Given the description of an element on the screen output the (x, y) to click on. 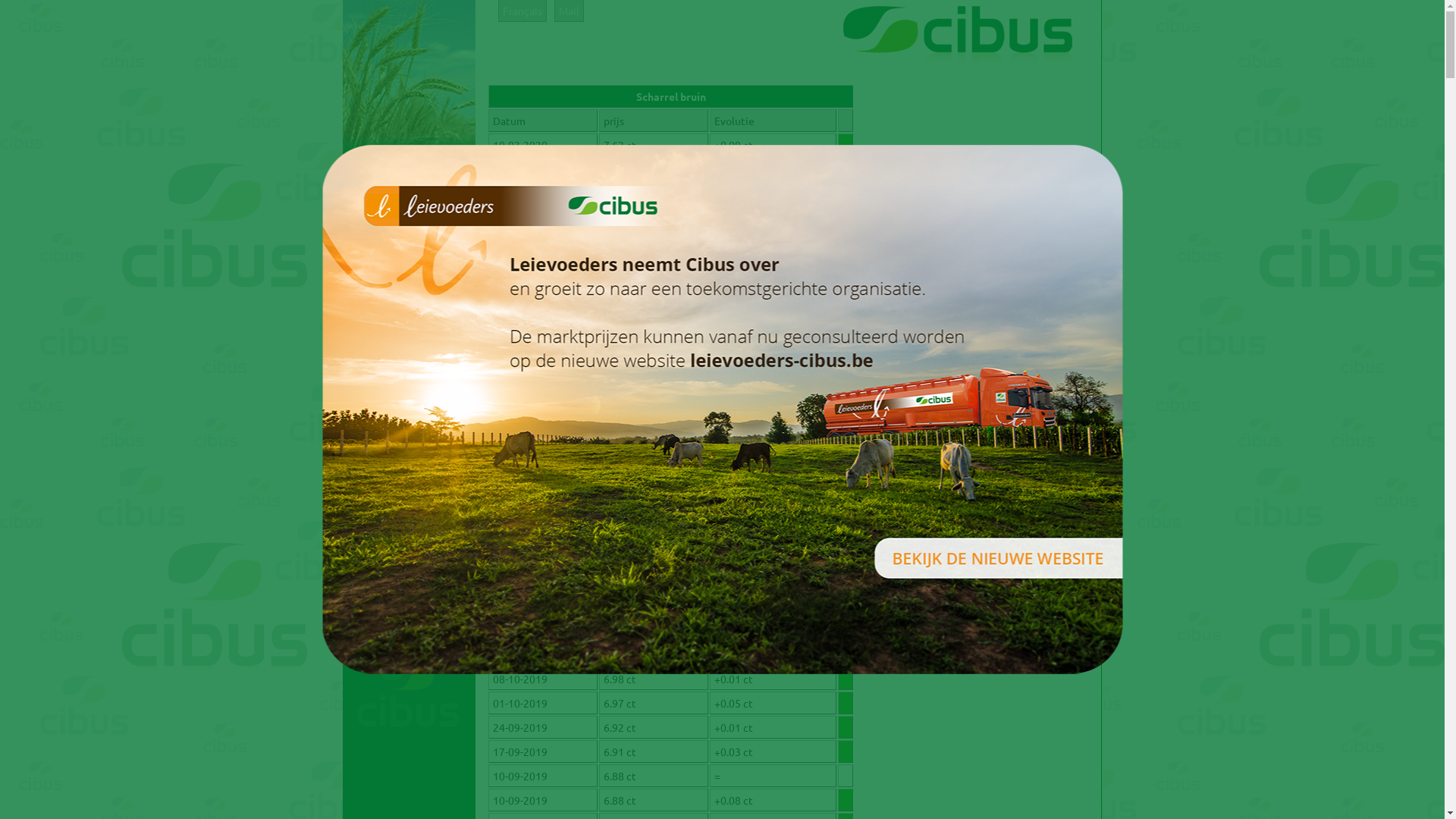
Marktprijzen Element type: text (408, 487)
Non GGO voeder Element type: text (408, 323)
Del'or nv Element type: text (408, 241)
Productie Element type: text (408, 180)
Contact Element type: text (408, 596)
Home Element type: text (408, 159)
Transport Element type: text (408, 364)
Hobbyvoeders Element type: text (408, 343)
Vraag & Aanbod Element type: text (408, 384)
Agriflanders 2017 Element type: text (408, 405)
Graanprijzen Element type: text (408, 507)
Voeders Element type: text (408, 282)
Marktinfo en Termijnprijzen grondstoffen Element type: text (408, 542)
Nieuwe website Element type: text (408, 446)
Graanopslag Element type: text (408, 200)
Mail Element type: text (568, 10)
Xatan nv Element type: text (408, 262)
Actualiteit Element type: text (408, 466)
Drogerij Element type: text (408, 221)
Mixen Element type: text (408, 302)
Folders Element type: text (408, 425)
Links Element type: text (408, 575)
